Given the description of an element on the screen output the (x, y) to click on. 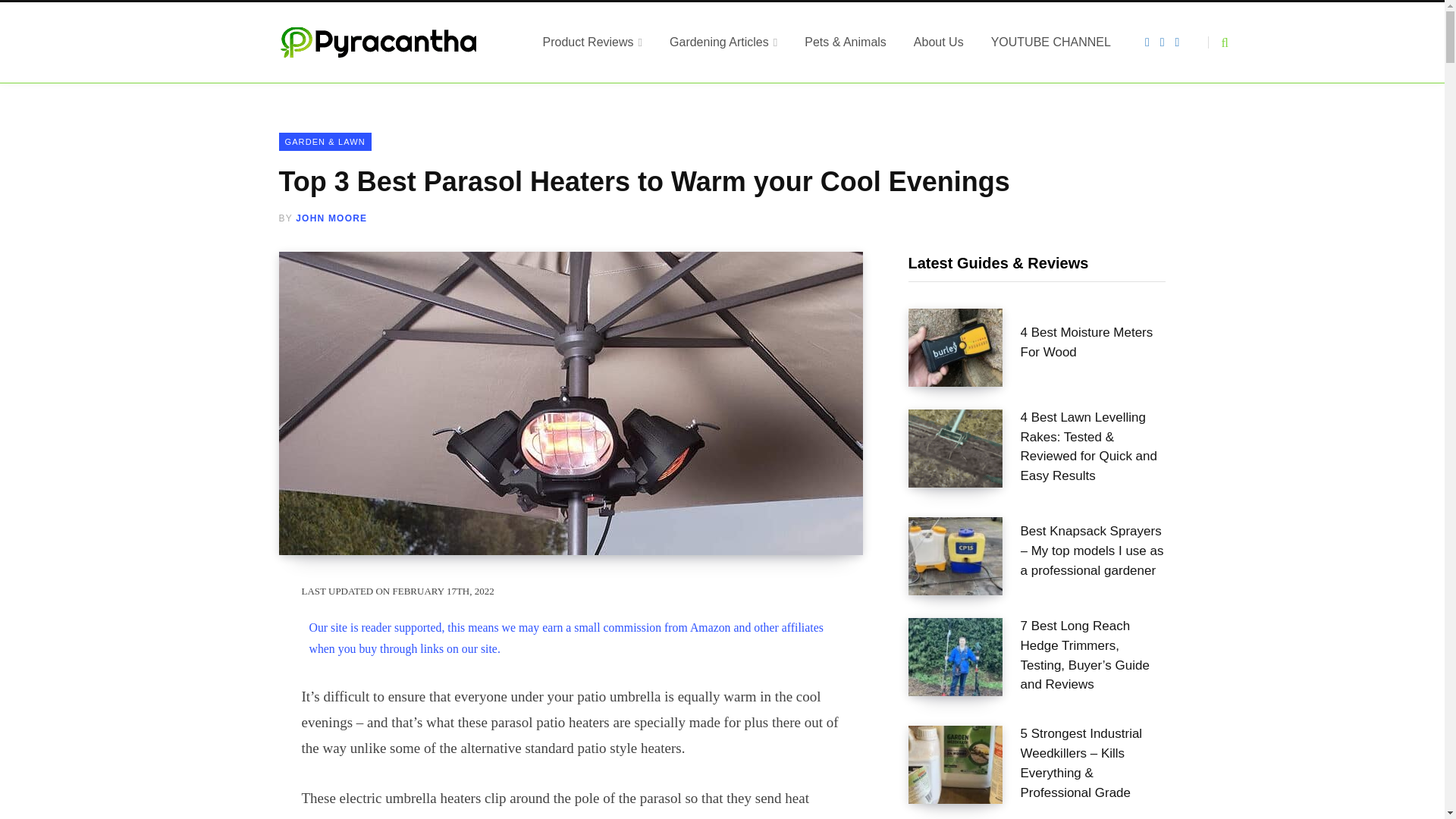
Pyracantha.co.uk (392, 42)
Search (1217, 42)
Product Reviews (592, 41)
JOHN MOORE (330, 217)
Gardening Articles (723, 41)
About Us (937, 41)
YOUTUBE CHANNEL (1050, 41)
Posts by John Moore (330, 217)
